Given the description of an element on the screen output the (x, y) to click on. 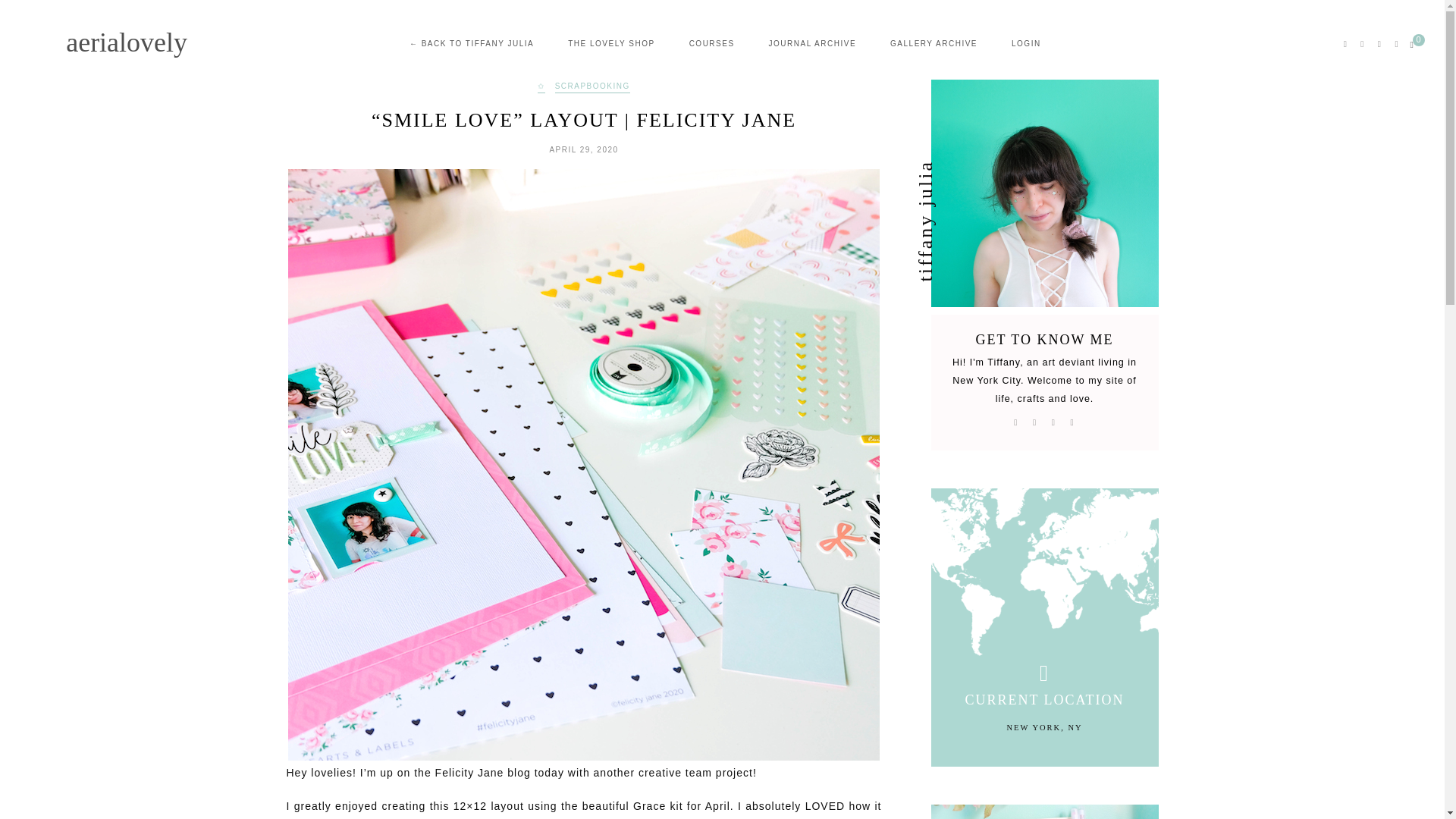
COURSES (711, 43)
THE LOVELY SHOP (610, 43)
aerialovely (126, 45)
LIFE (1044, 811)
APRIL 29, 2020 (582, 149)
SCRAPBOOKING (592, 87)
JOURNAL ARCHIVE (812, 43)
GALLERY ARCHIVE (932, 43)
